Given the description of an element on the screen output the (x, y) to click on. 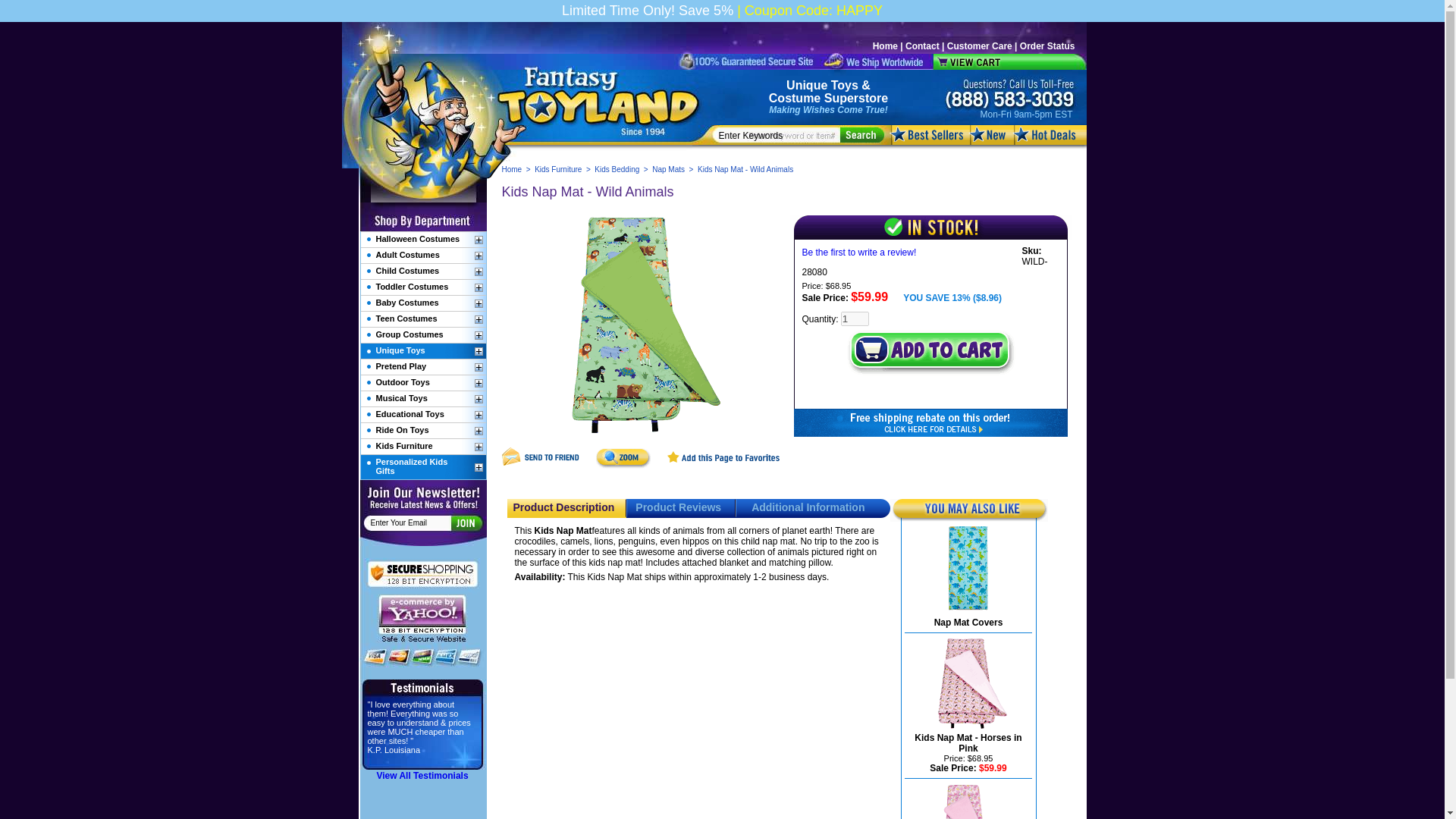
Search (861, 134)
Unique Toys (822, 84)
Nap Mat Covers (968, 622)
Costume (794, 97)
Search (861, 134)
Enter Keywords (779, 134)
Be the first to write a review! (859, 252)
Kids Bedding (616, 169)
bookmark this page (723, 465)
Enter Keywords (779, 134)
Nap Mats (668, 169)
Additional Information (807, 507)
Contact (922, 45)
Home (512, 169)
Enter Your Email (409, 522)
